Given the description of an element on the screen output the (x, y) to click on. 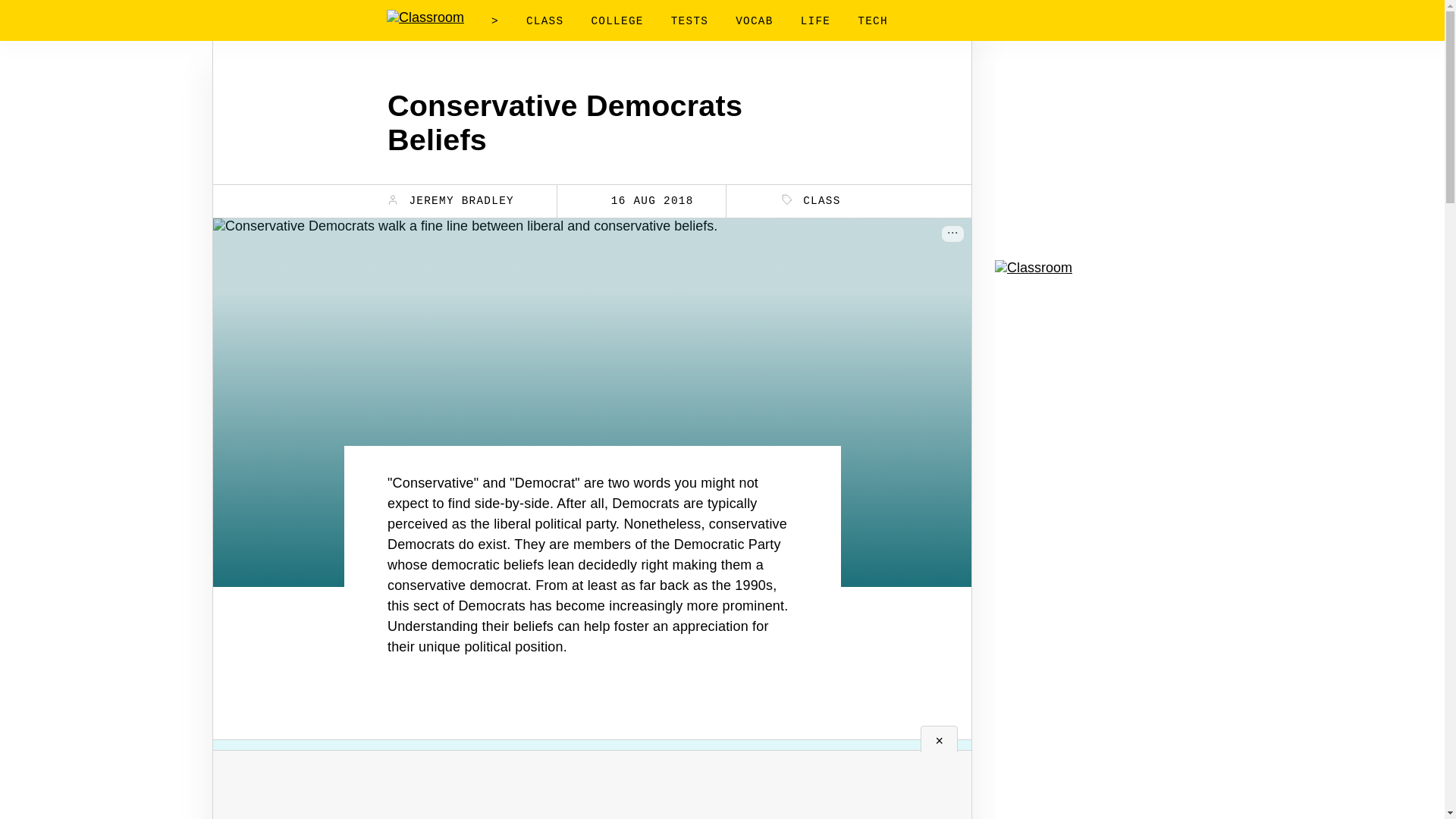
CLASS (544, 21)
VOCAB (754, 21)
CLASS (811, 200)
TESTS (689, 21)
TECH (872, 21)
COLLEGE (617, 21)
LIFE (815, 21)
